Given the description of an element on the screen output the (x, y) to click on. 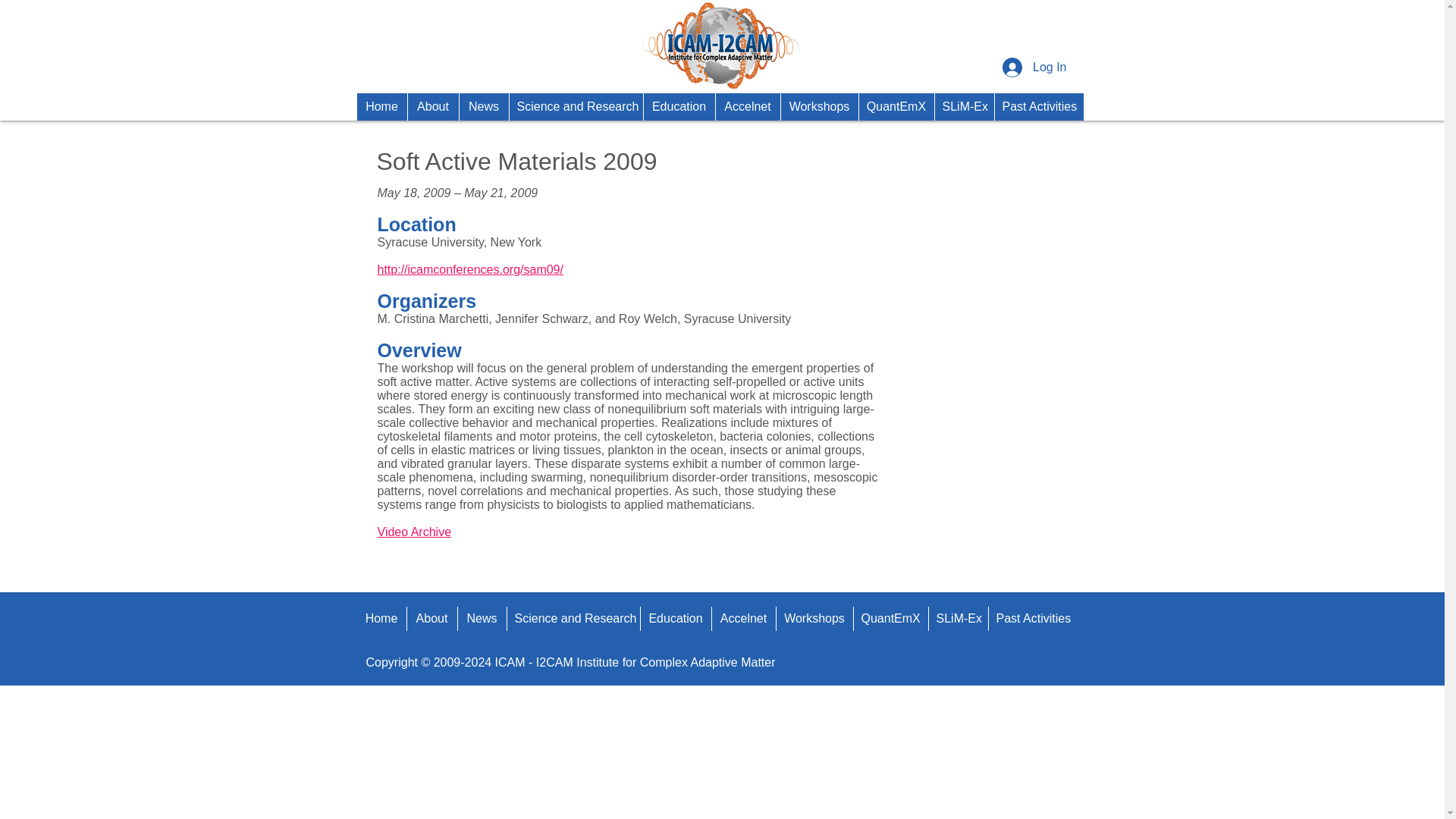
Log In (1034, 67)
Home (381, 106)
